Given the description of an element on the screen output the (x, y) to click on. 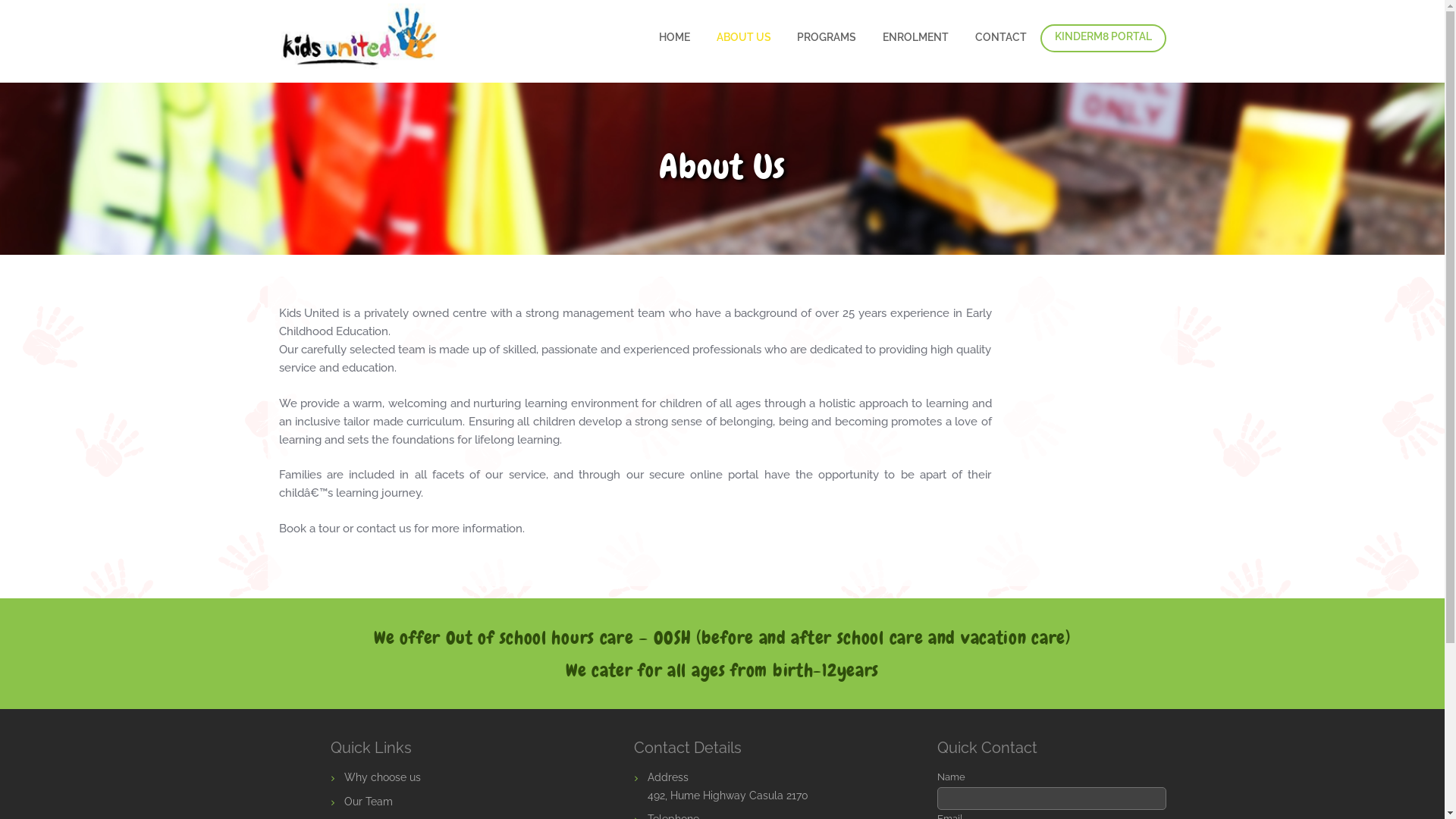
ENROLMENT Element type: text (915, 37)
CONTACT Element type: text (1001, 37)
HOME Element type: text (673, 37)
Why choose us Element type: text (382, 777)
PROGRAMS Element type: text (826, 37)
ABOUT US Element type: text (743, 37)
Our Team Element type: text (368, 801)
KINDERM8 PORTAL Element type: text (1103, 38)
